Given the description of an element on the screen output the (x, y) to click on. 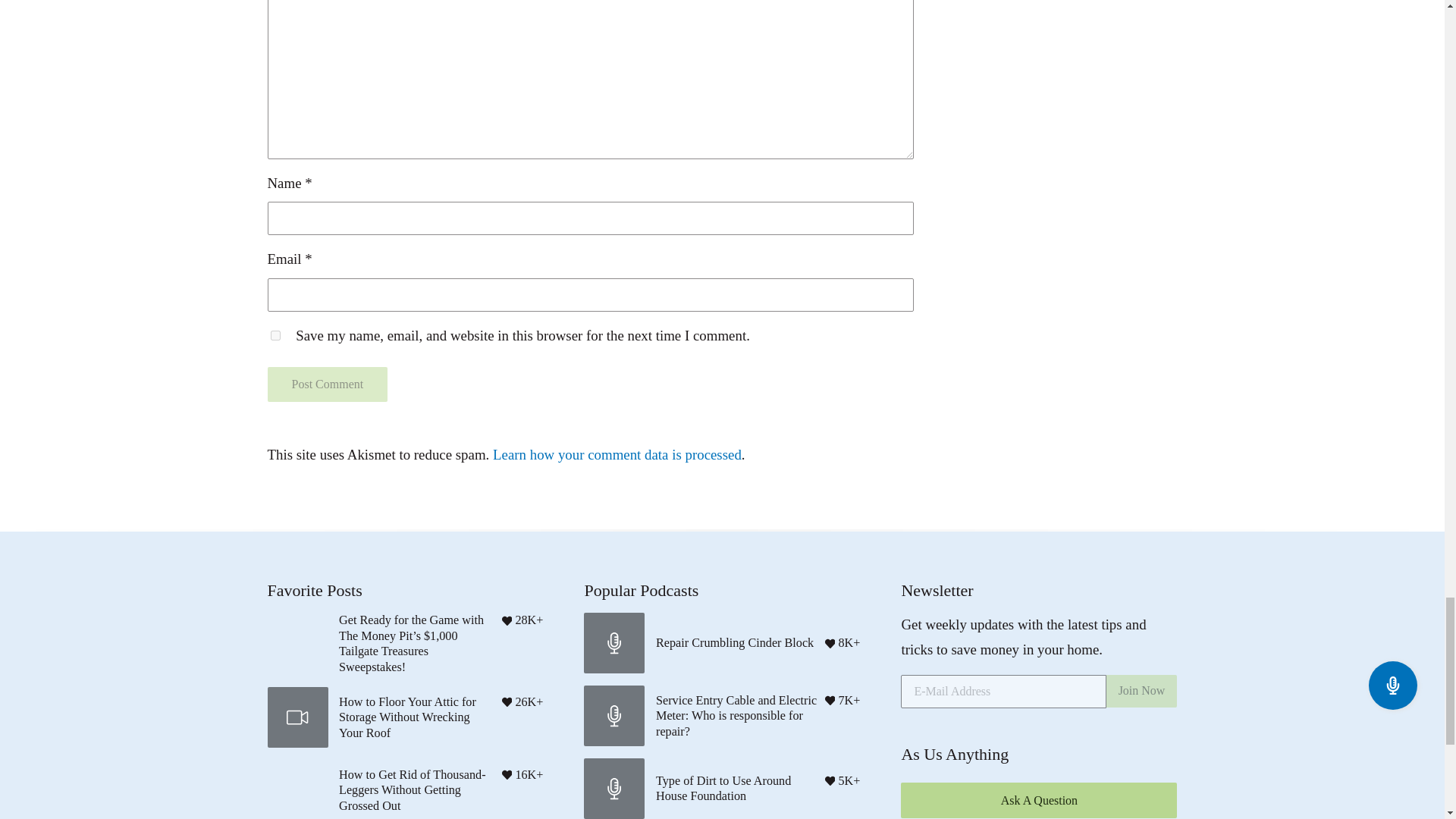
Post Comment (326, 384)
yes (274, 335)
Join Now (1141, 690)
